Given the description of an element on the screen output the (x, y) to click on. 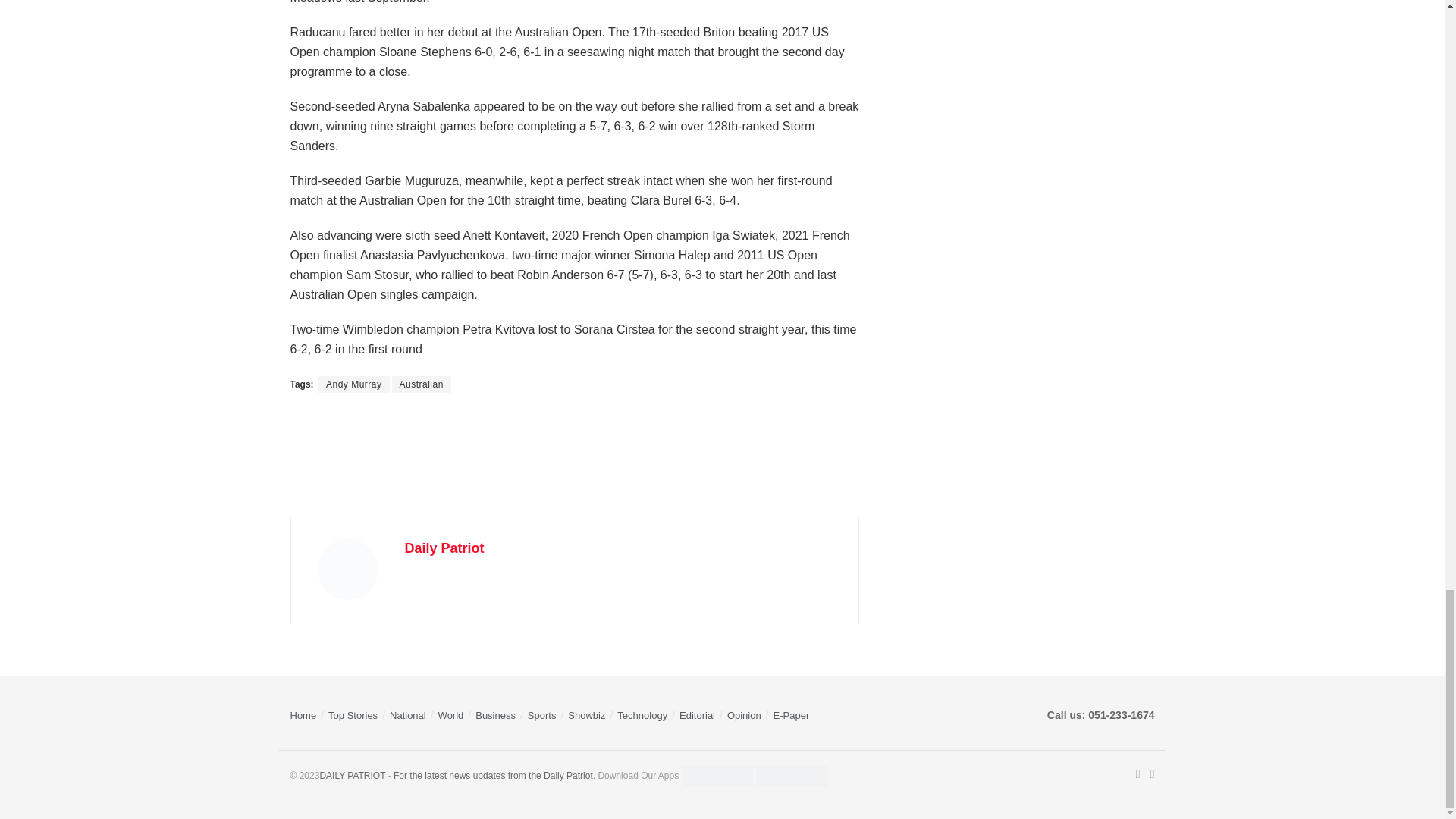
Powered By (351, 775)
